Given the description of an element on the screen output the (x, y) to click on. 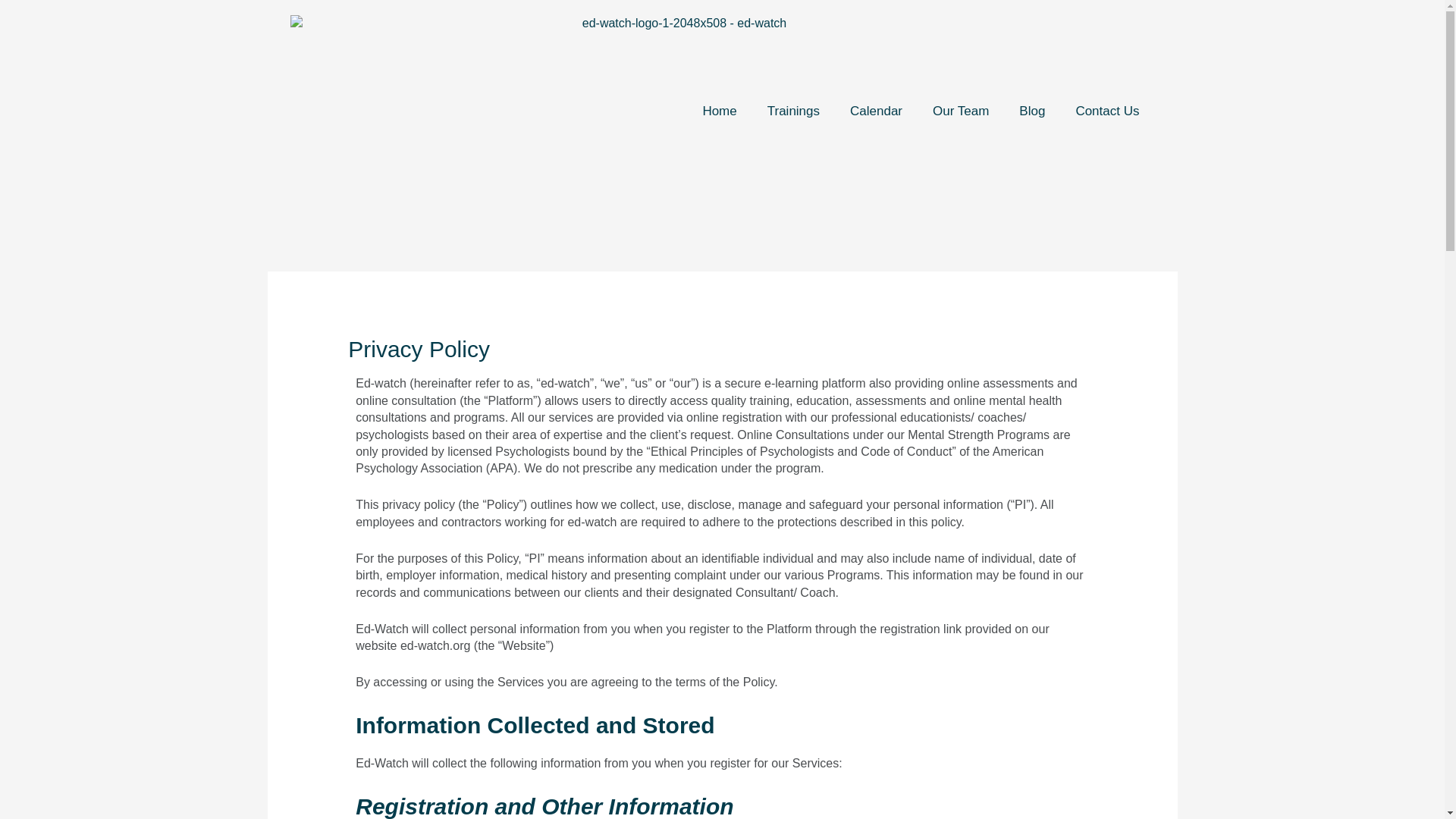
Calendar (875, 111)
Blog (1031, 111)
Trainings (793, 111)
Contact Us (1106, 111)
Our Team (960, 111)
Home (719, 111)
